Given the description of an element on the screen output the (x, y) to click on. 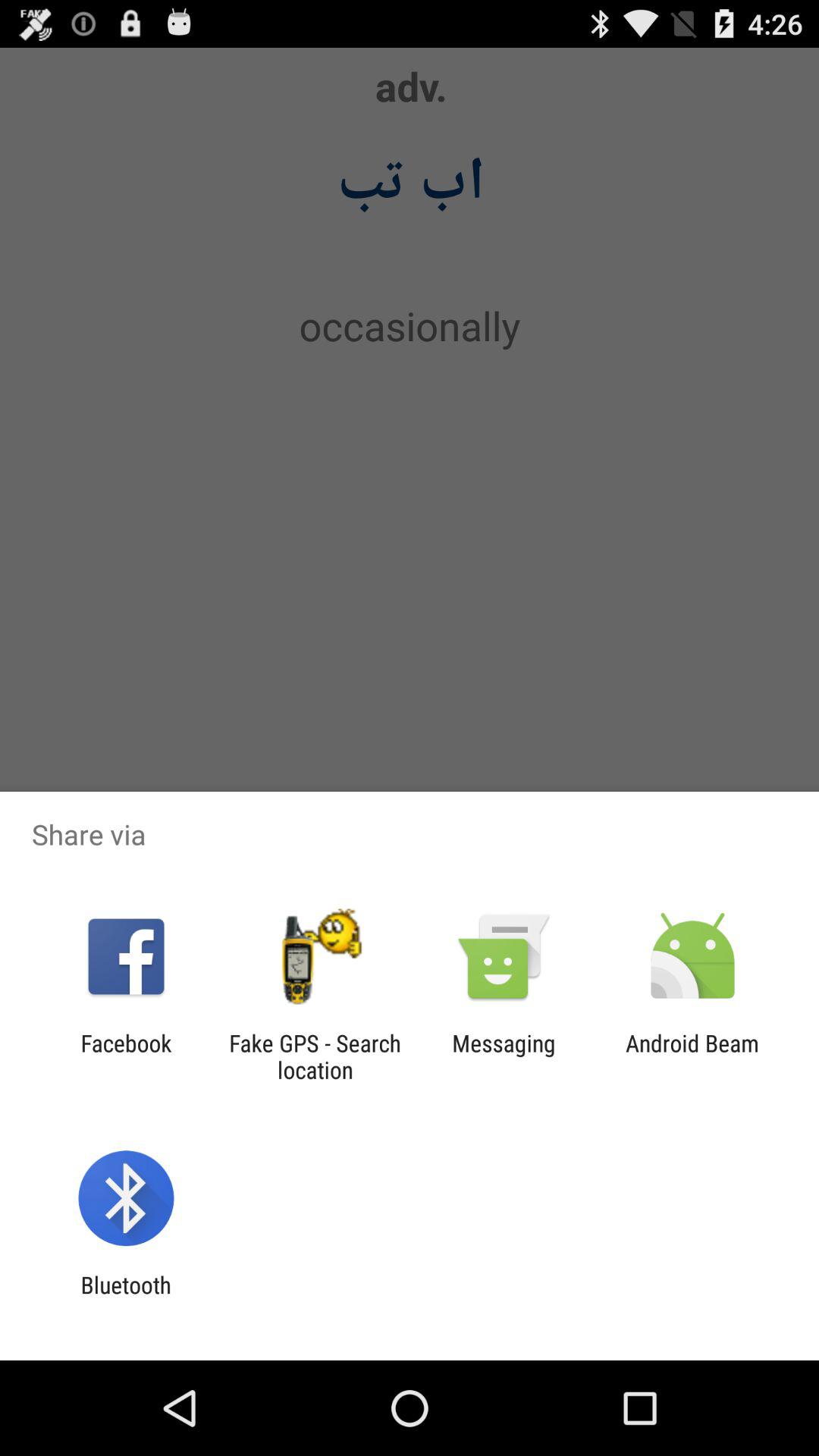
flip to facebook icon (125, 1056)
